Given the description of an element on the screen output the (x, y) to click on. 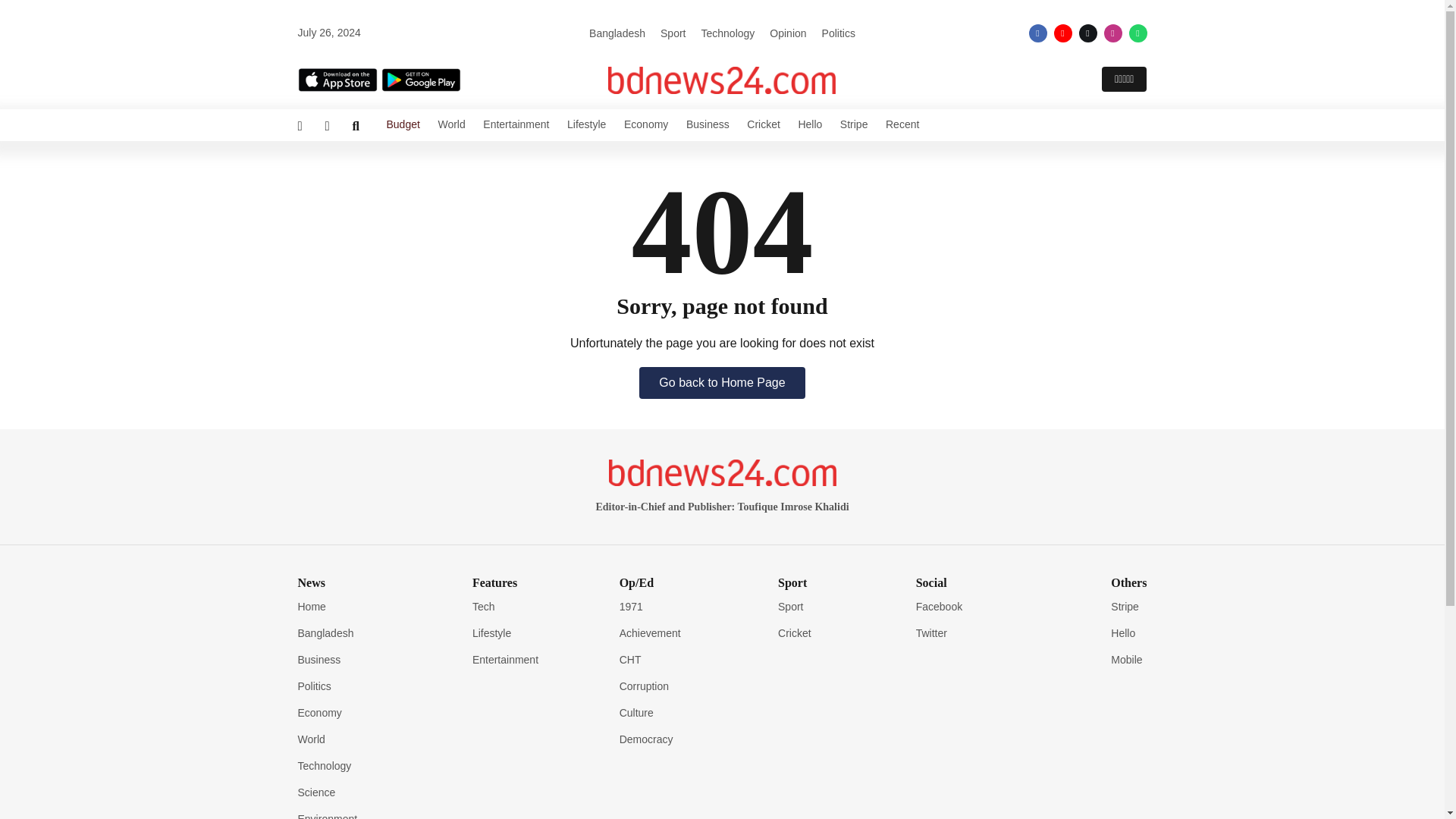
bdnews24.com (721, 80)
Bangladesh (617, 33)
Sport (673, 33)
